Given the description of an element on the screen output the (x, y) to click on. 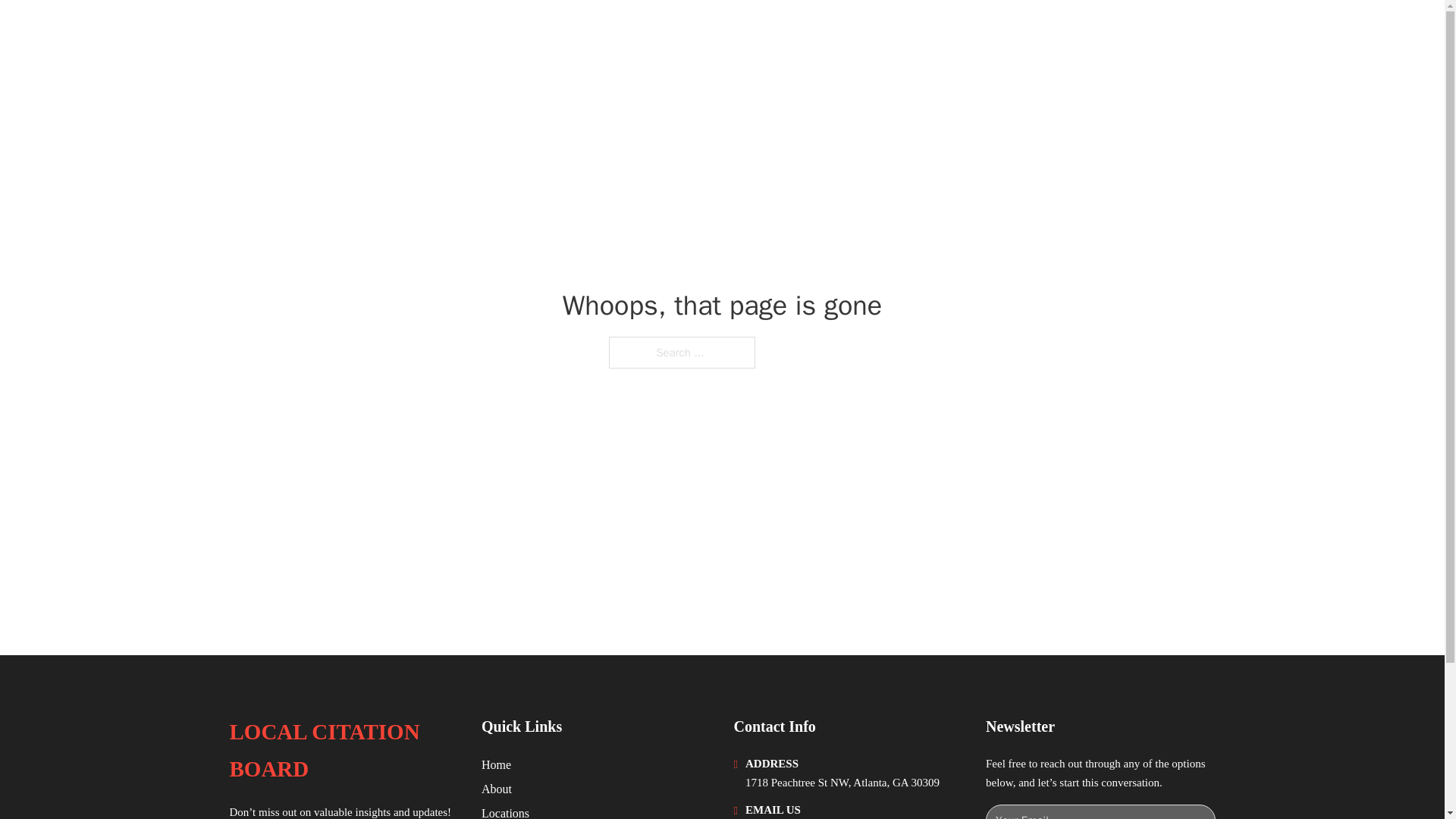
Home (496, 764)
LOCATIONS (1098, 31)
HOME (1025, 31)
LOCAL CITATION BOARD (343, 750)
Locations (505, 811)
About (496, 788)
LOCAL CITATION BOARD (380, 31)
